Given the description of an element on the screen output the (x, y) to click on. 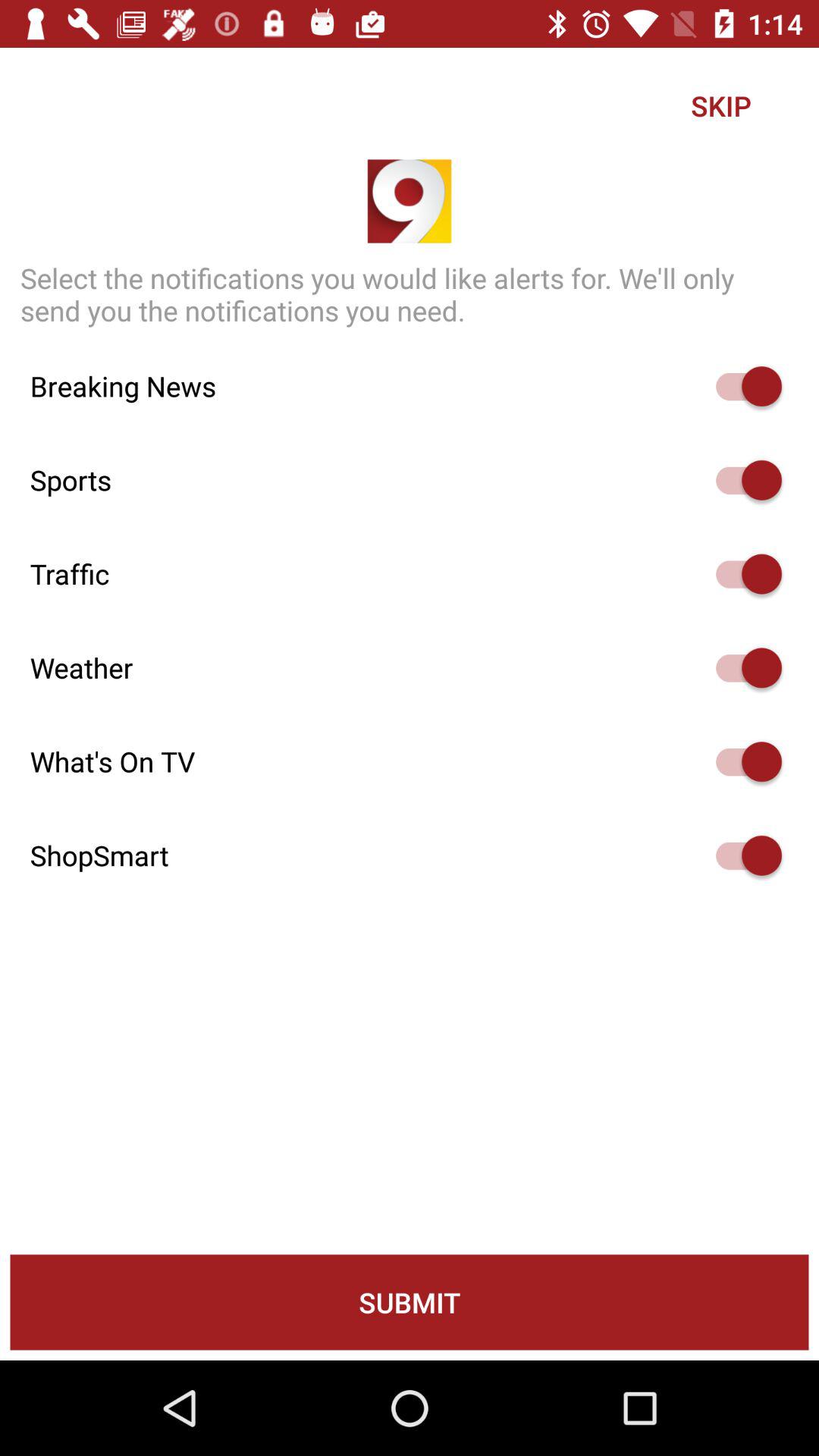
scroll until the submit item (409, 1302)
